Given the description of an element on the screen output the (x, y) to click on. 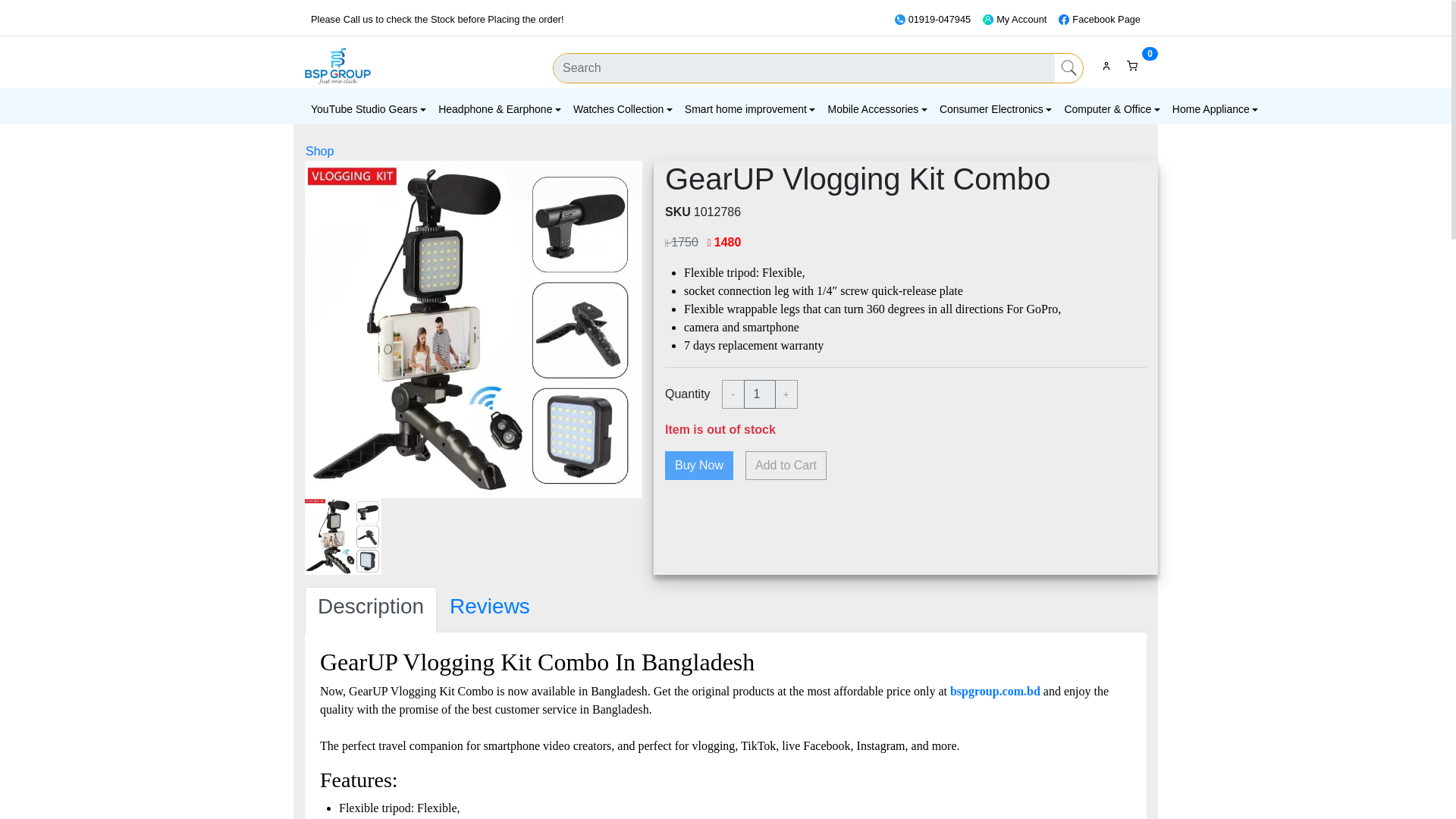
Search (1068, 68)
BSP GROUP (337, 65)
01919-047945 (932, 19)
Buy Now (699, 465)
0 (1134, 65)
Smart home improvement (750, 109)
Please Call us to check the Stock before Placing the order! (437, 19)
Mobile Accessories (877, 109)
Facebook Page (1099, 19)
YouTube Studio Gears (368, 109)
Watches Collection (622, 109)
1 (760, 394)
My Account (1014, 19)
